Given the description of an element on the screen output the (x, y) to click on. 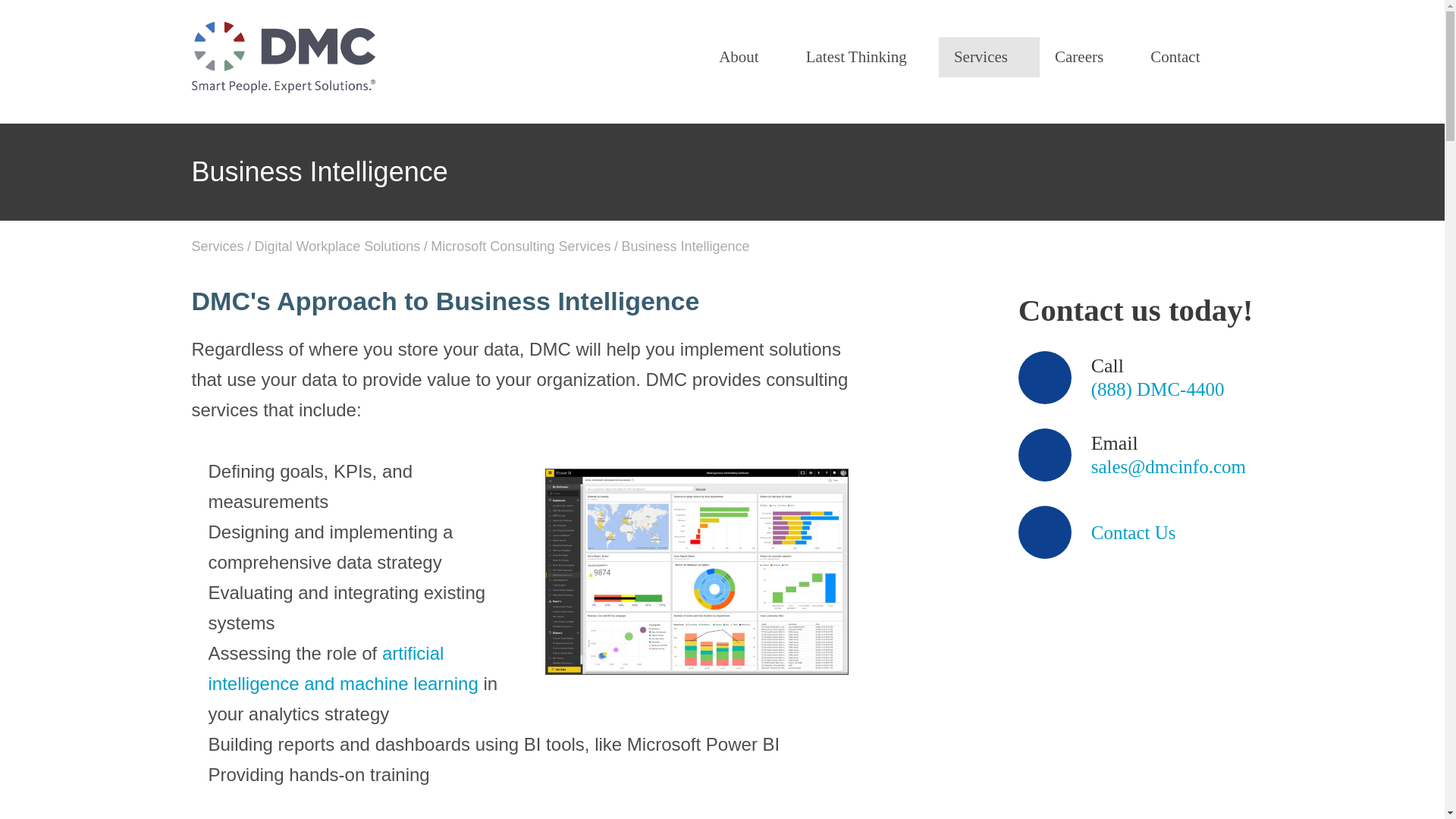
Microsoft Consulting Services (520, 246)
About (746, 56)
Digital Workplace Solutions (337, 246)
Services (216, 246)
Contact (1173, 56)
Business Intelligence (685, 246)
Services (989, 56)
artificial intelligence and machine learning (342, 667)
Careers (1087, 56)
Latest Thinking (864, 56)
